Given the description of an element on the screen output the (x, y) to click on. 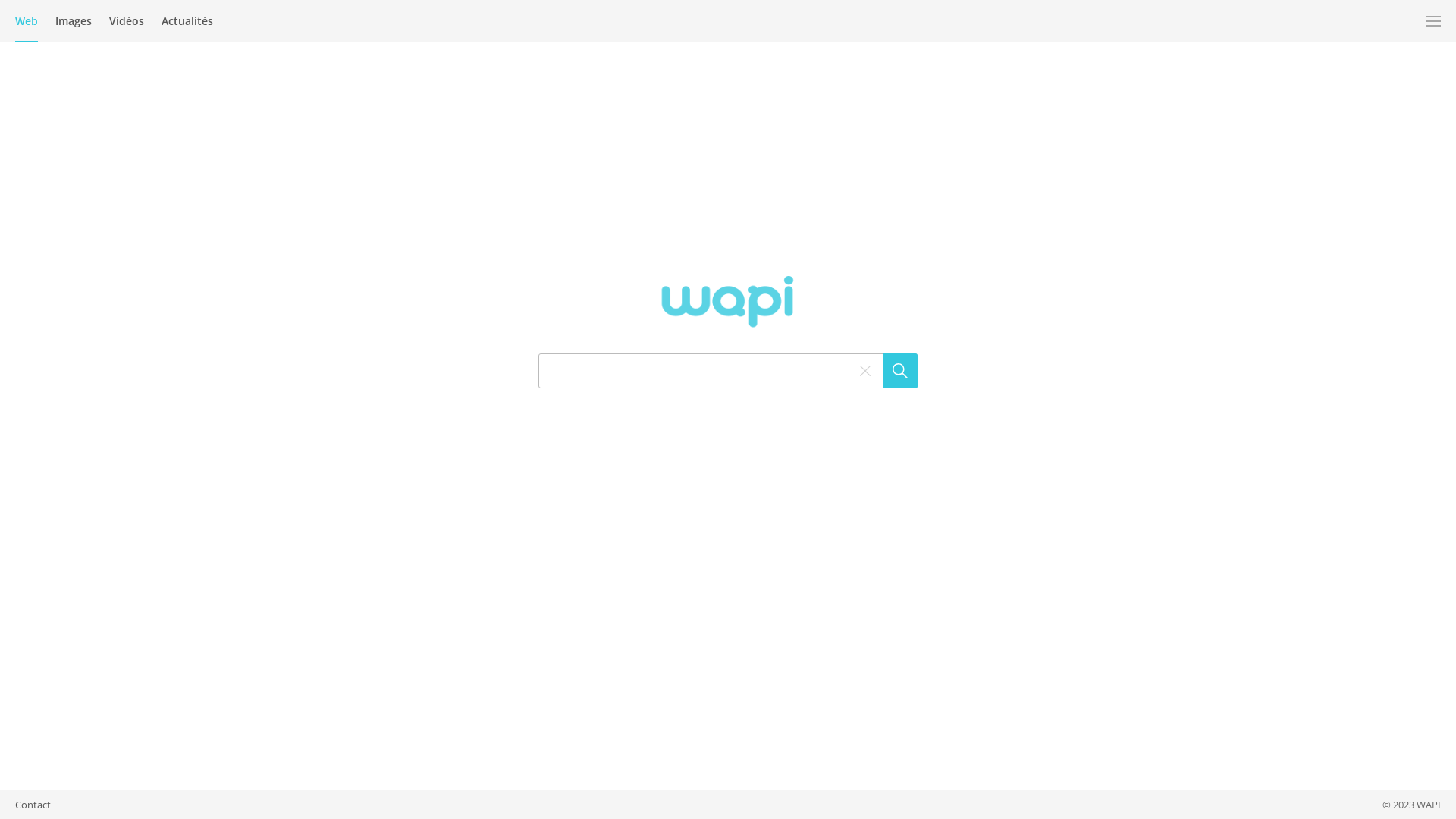
Contact Element type: text (32, 804)
